Given the description of an element on the screen output the (x, y) to click on. 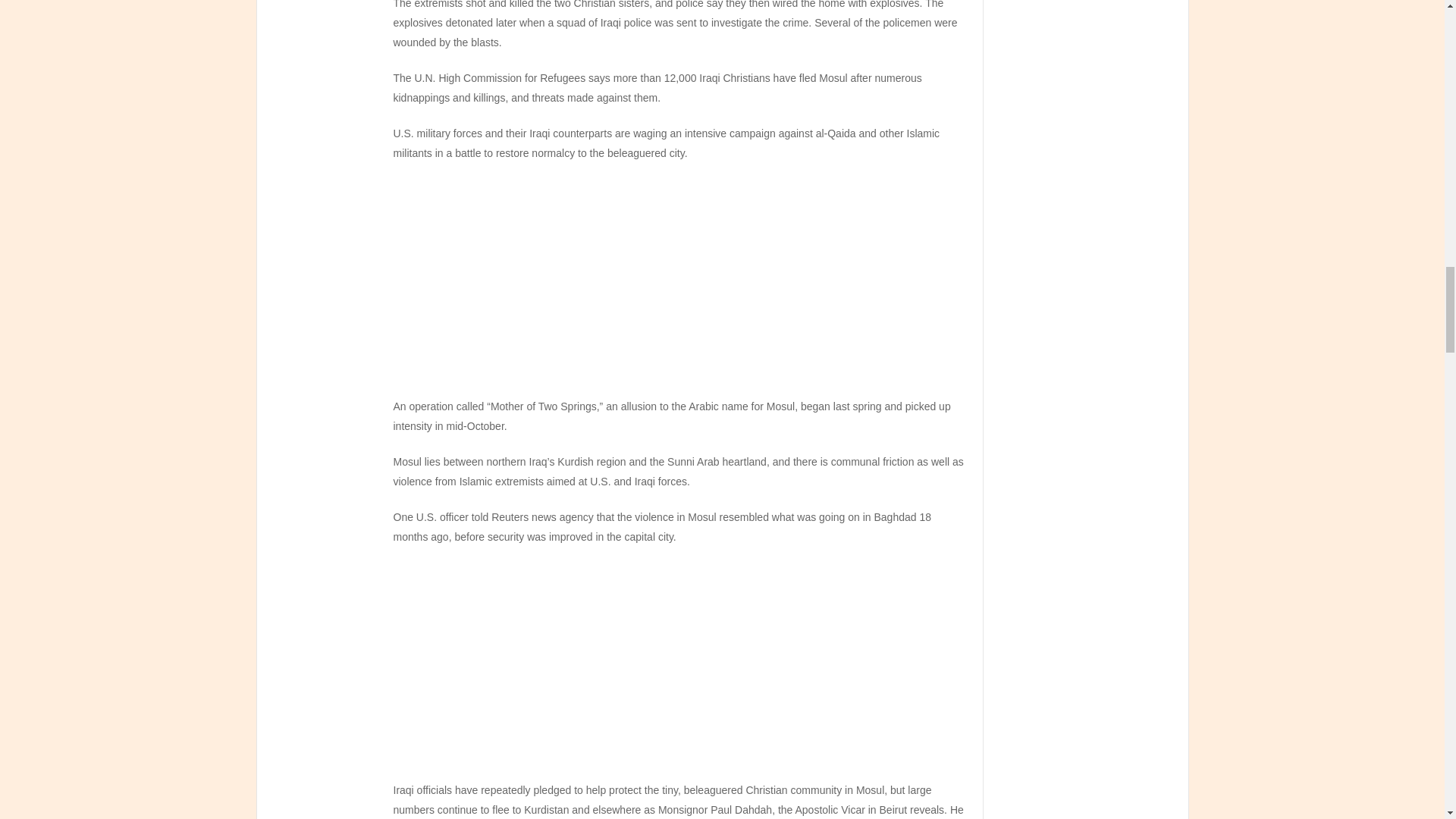
Advertisement (680, 668)
Advertisement (680, 285)
